Given the description of an element on the screen output the (x, y) to click on. 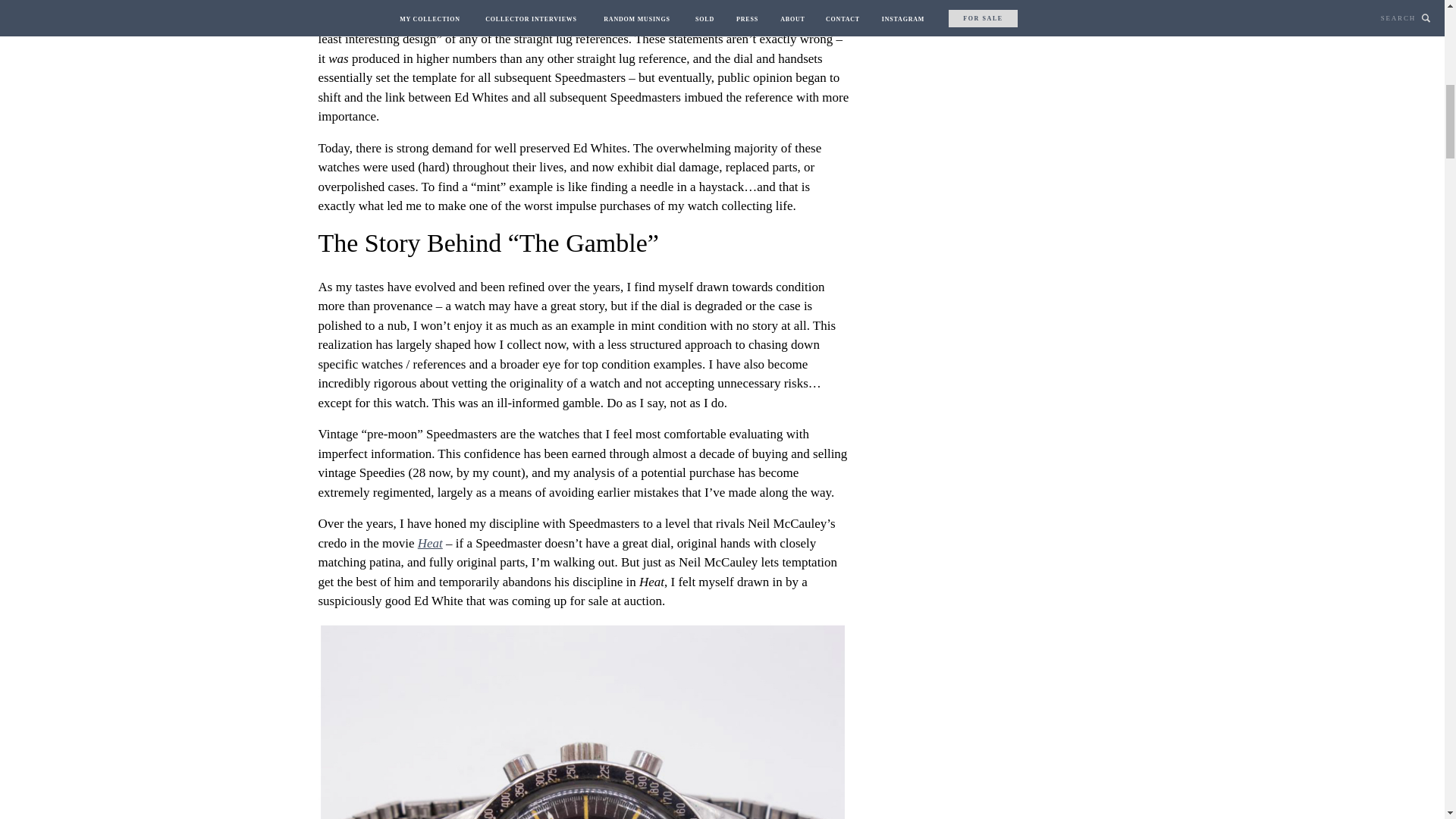
Heat (429, 543)
